Given the description of an element on the screen output the (x, y) to click on. 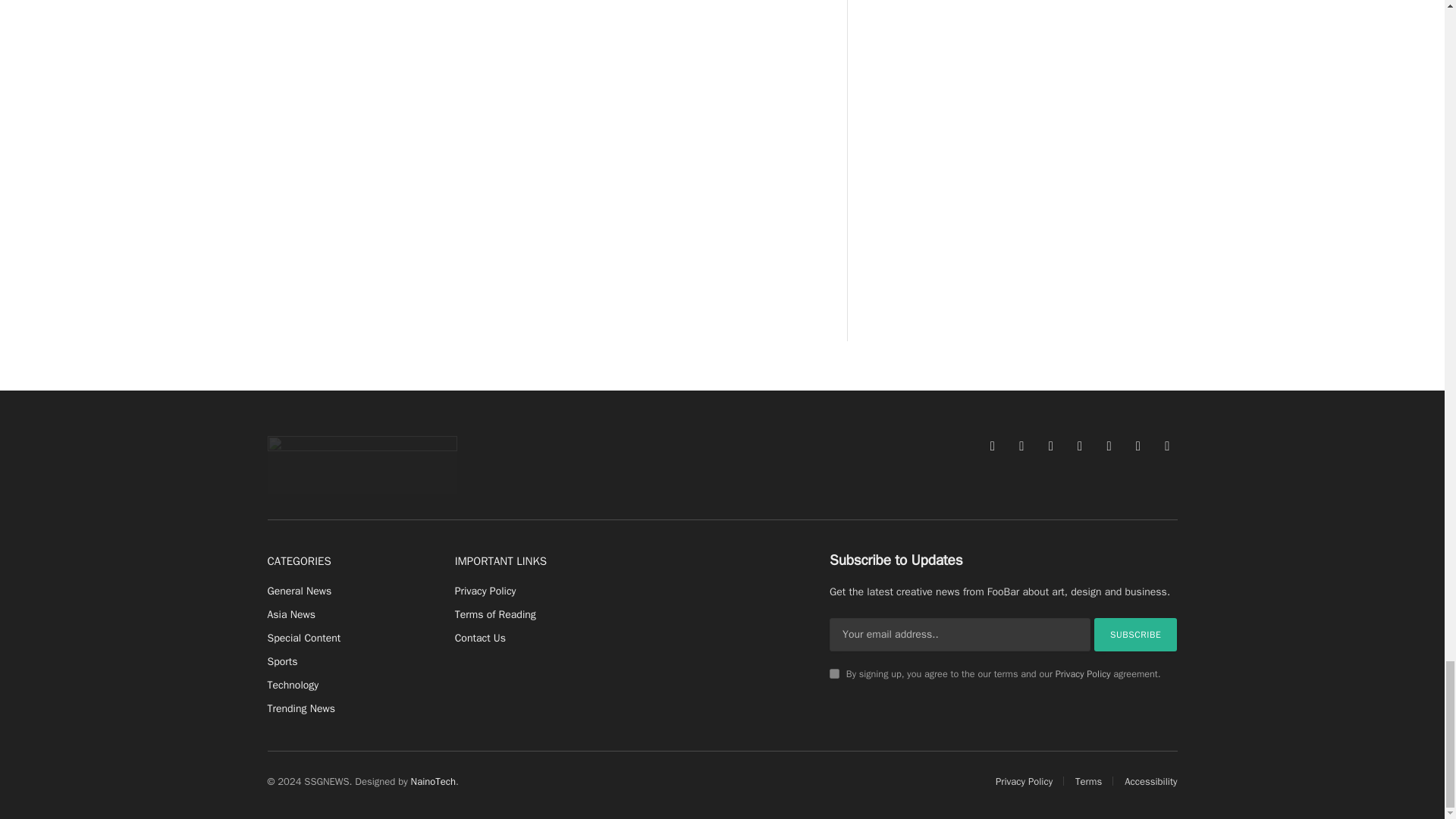
on (834, 673)
Subscribe (1135, 634)
